Given the description of an element on the screen output the (x, y) to click on. 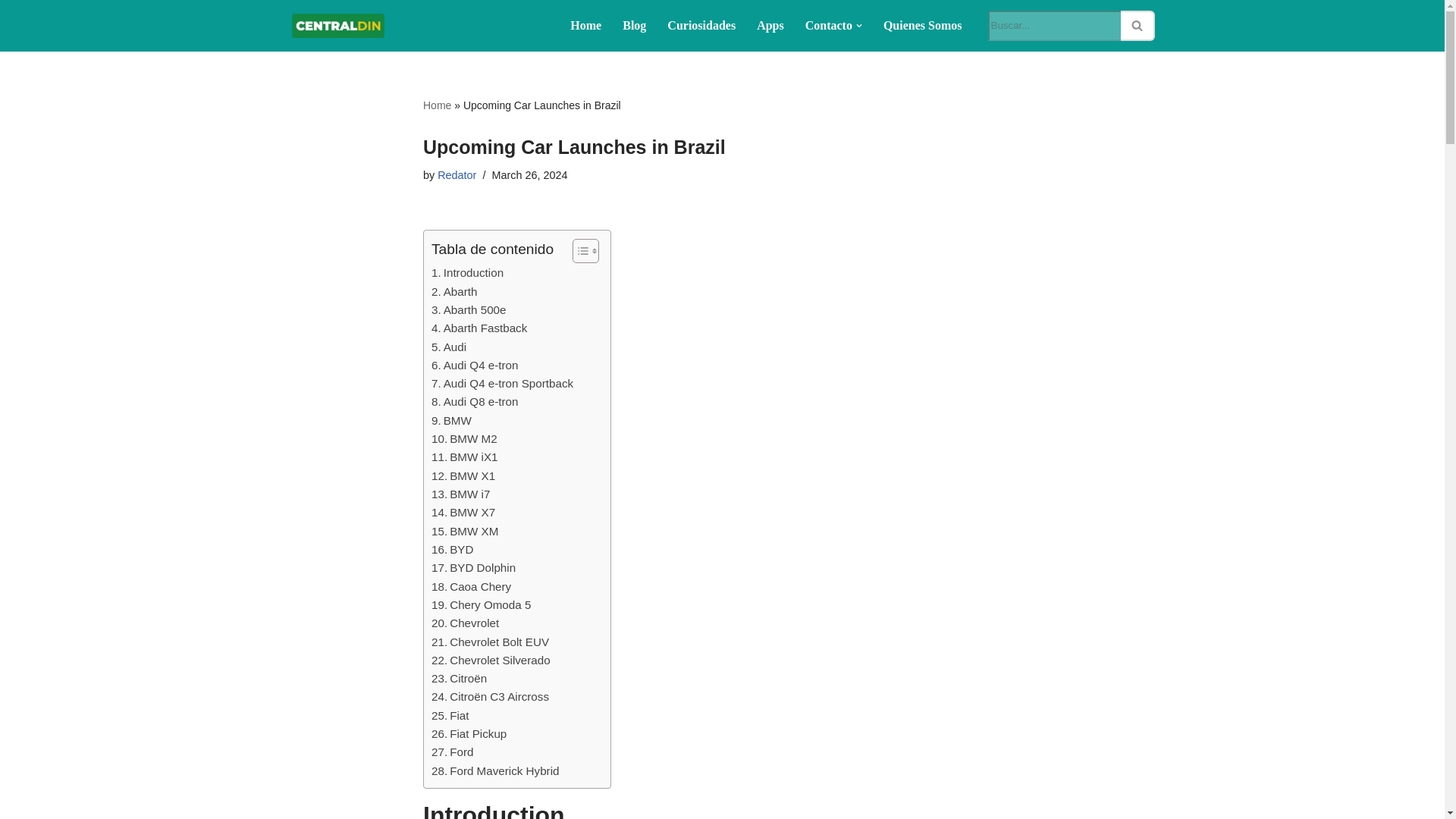
Abarth Fastback (478, 328)
Introduction (466, 272)
Abarth 500e (467, 310)
Curiosidades (700, 25)
Audi Q4 e-tron (474, 365)
Home (585, 25)
Quienes Somos (922, 25)
BMW iX1 (463, 456)
BMW X7 (462, 512)
Abarth Fastback (478, 328)
